Given the description of an element on the screen output the (x, y) to click on. 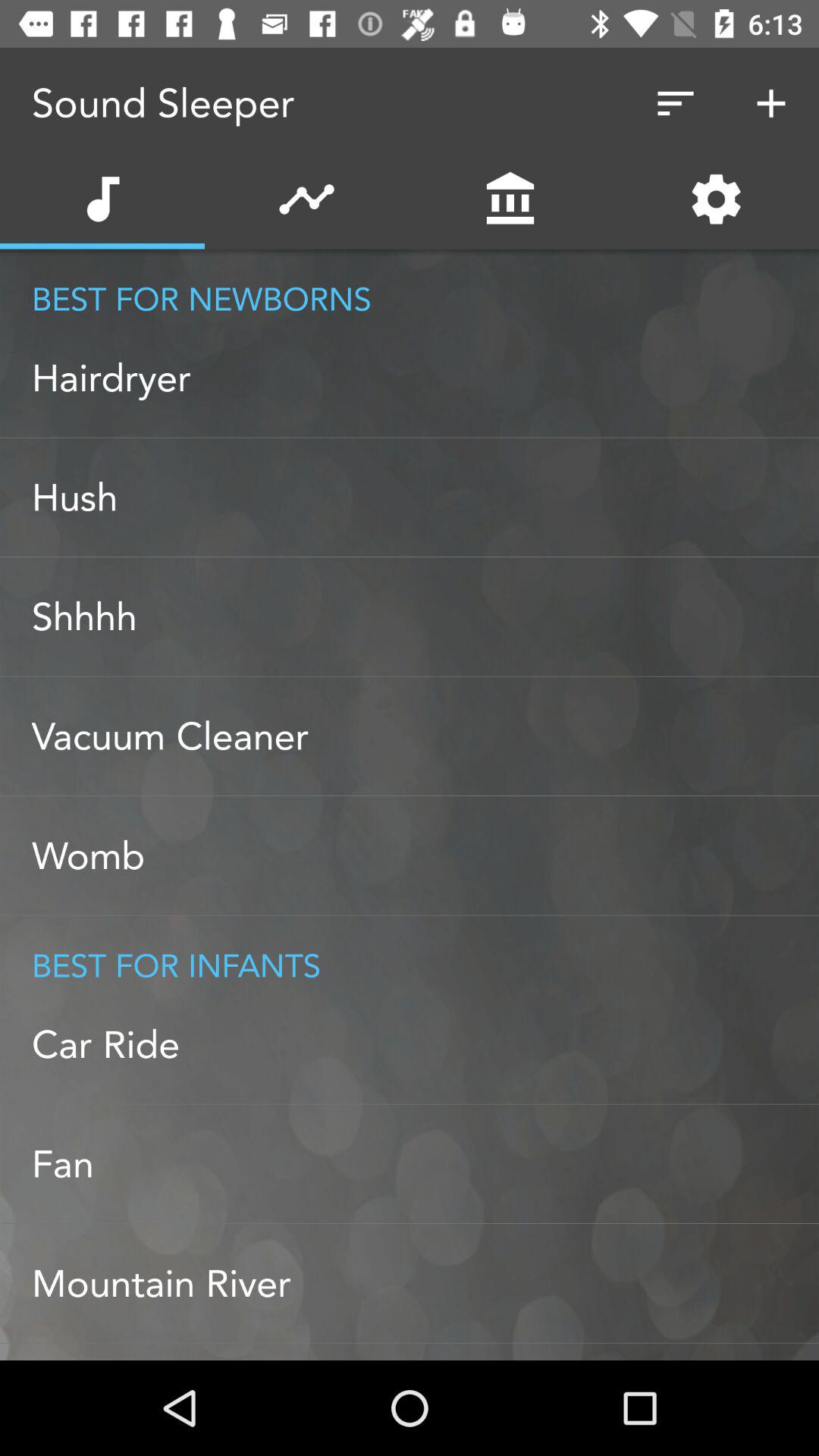
press the car ride item (425, 1044)
